Given the description of an element on the screen output the (x, y) to click on. 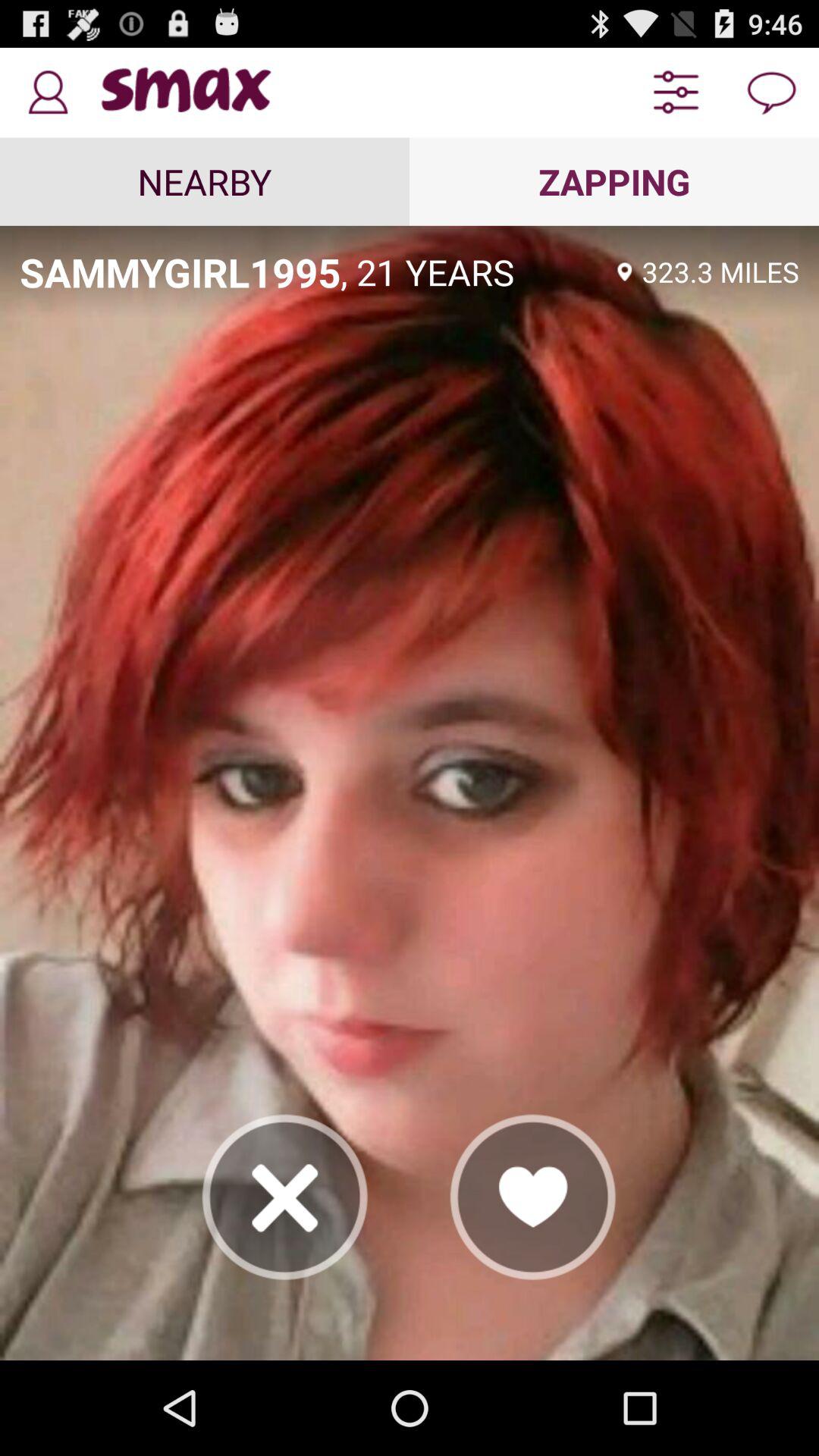
swipe to nearby (204, 181)
